Given the description of an element on the screen output the (x, y) to click on. 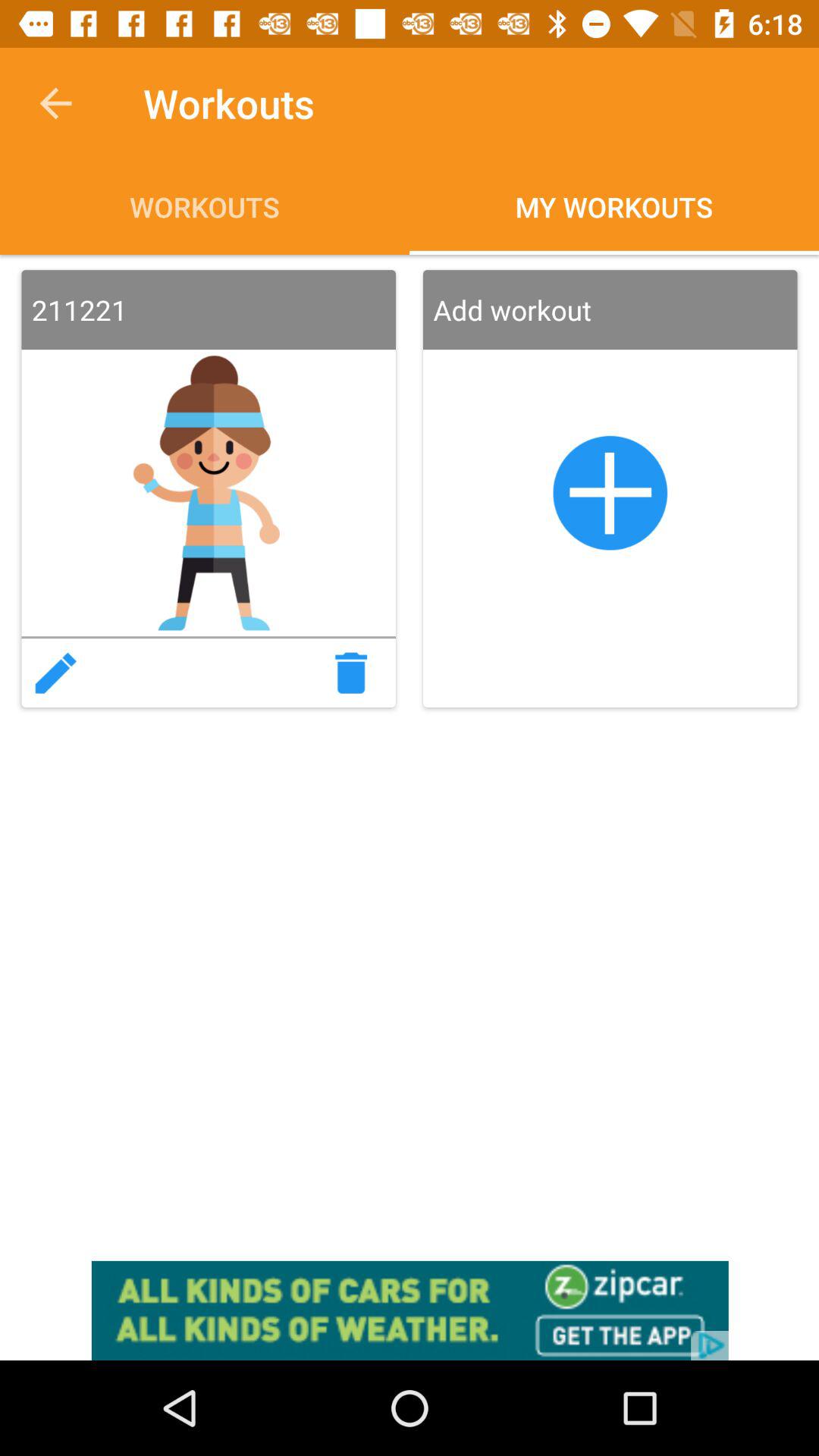
delede (355, 672)
